Given the description of an element on the screen output the (x, y) to click on. 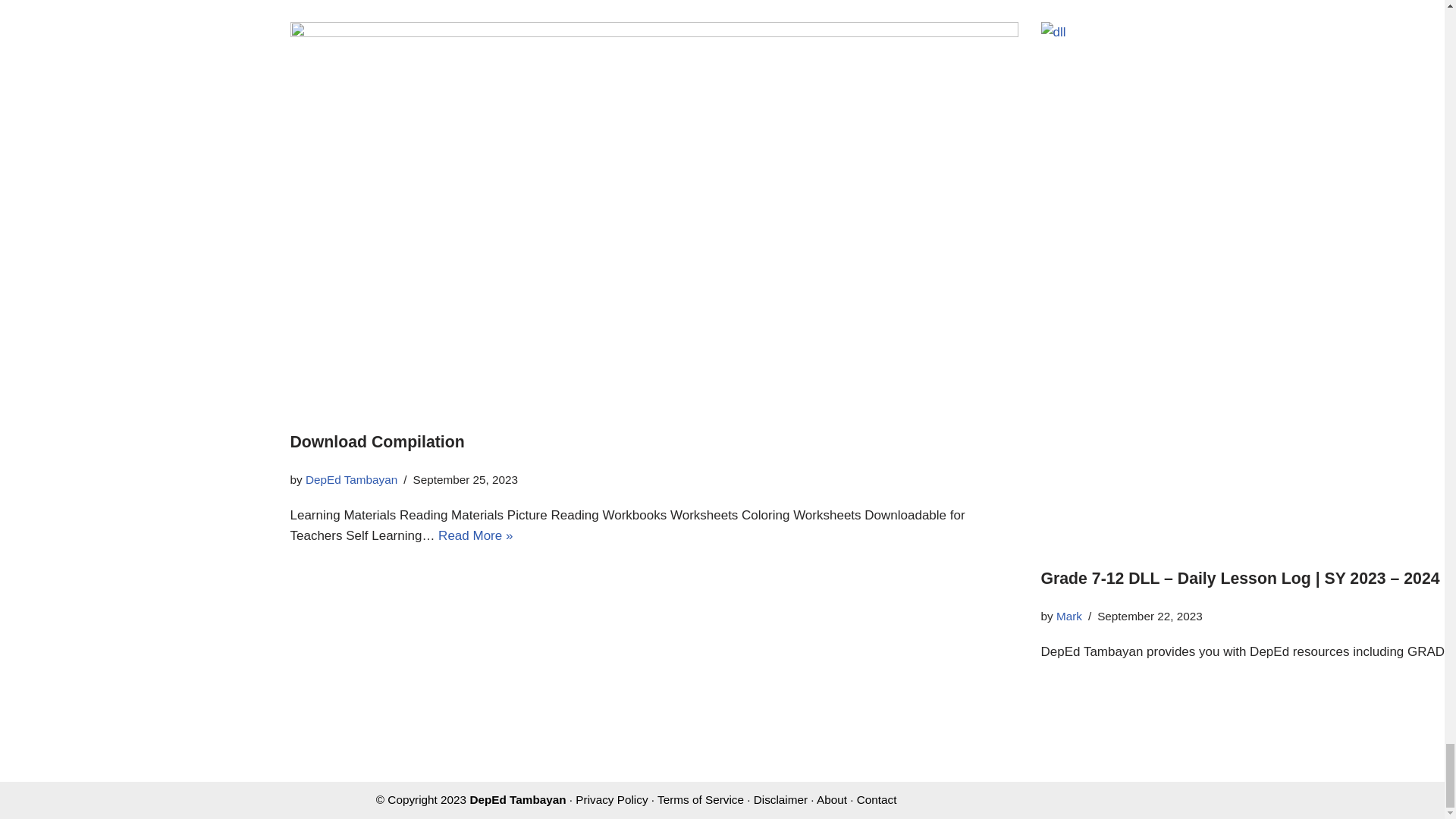
Posts by Mark (1069, 615)
Posts by DepEd Tambayan (351, 479)
